Given the description of an element on the screen output the (x, y) to click on. 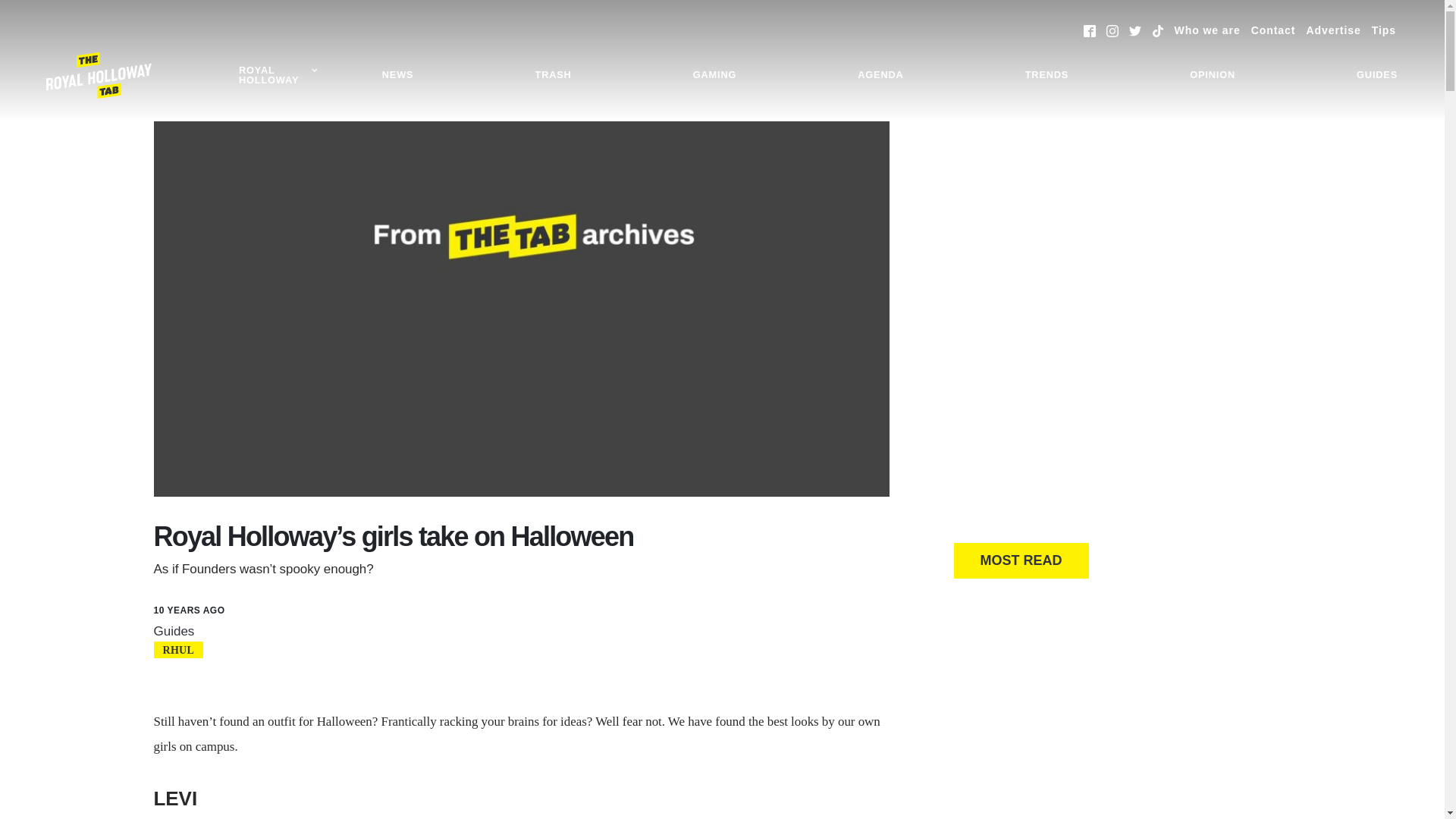
GAMING (714, 75)
Tips (1383, 29)
Contact (1272, 29)
TRASH (553, 75)
ROYAL HOLLOWAY (278, 75)
Who we are (1207, 29)
NEWS (398, 75)
OPINION (1211, 75)
GUIDES (1377, 75)
TRENDS (1046, 75)
